Given the description of an element on the screen output the (x, y) to click on. 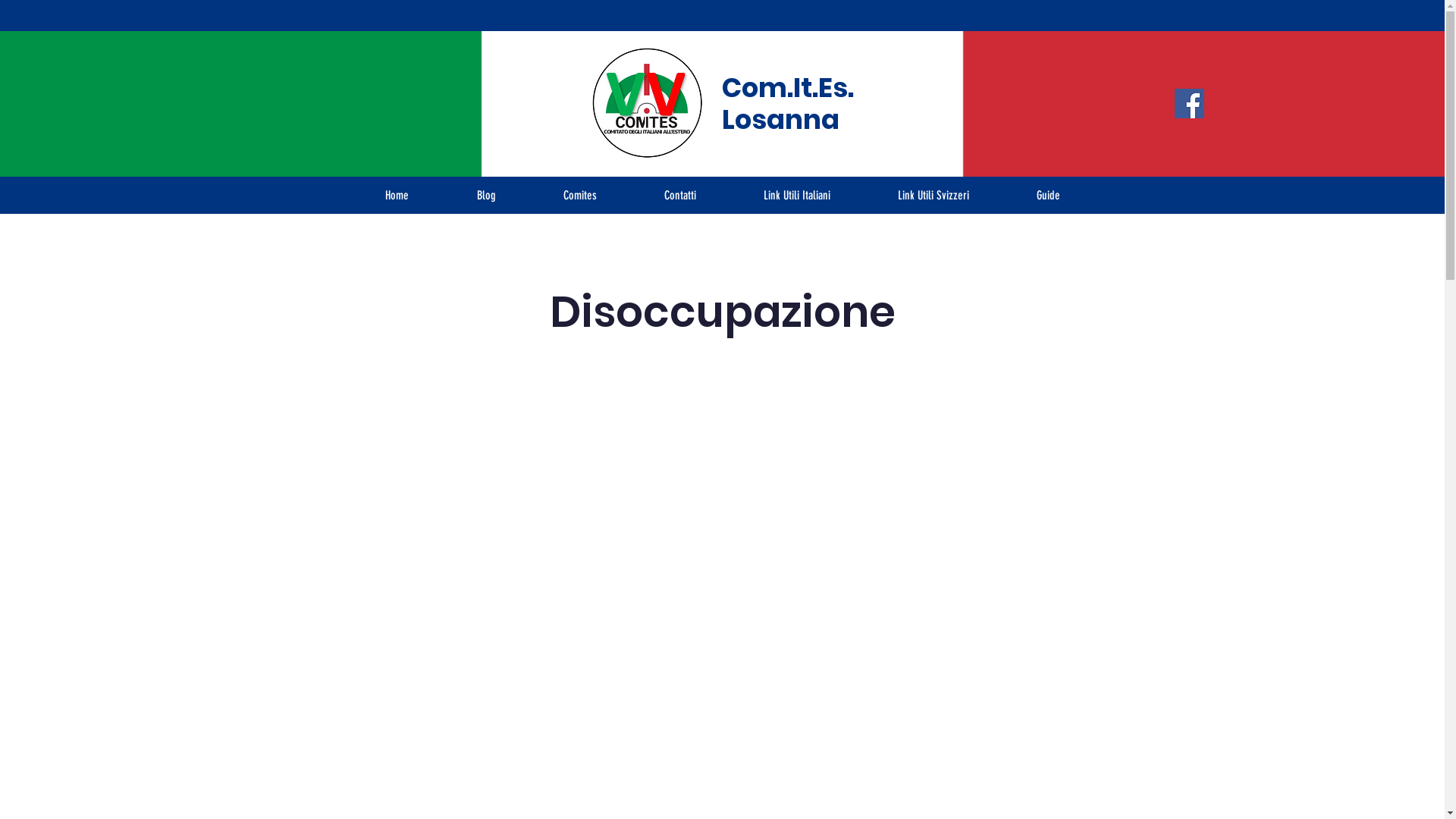
Com.It.Es. Element type: text (787, 87)
Link Utili Italiani Element type: text (796, 194)
Contatti Element type: text (680, 194)
Comites Element type: text (579, 194)
Losanna Element type: text (780, 119)
Guide Element type: text (1047, 194)
Blog Element type: text (486, 194)
Home Element type: text (396, 194)
Link Utili Svizzeri Element type: text (933, 194)
